Given the description of an element on the screen output the (x, y) to click on. 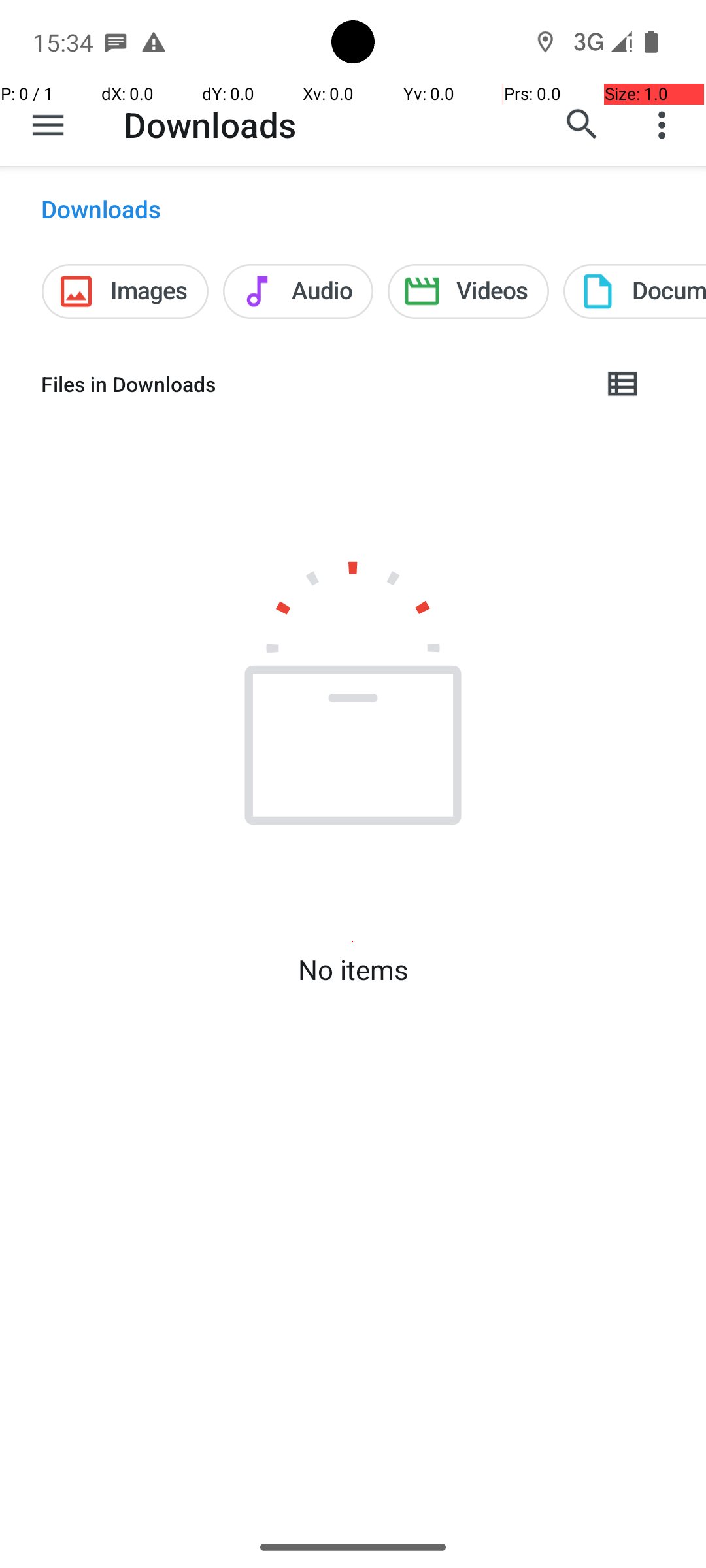
Show roots Element type: android.widget.ImageButton (48, 124)
Downloads Element type: android.widget.TextView (209, 124)
Files in Downloads Element type: android.widget.TextView (311, 383)
List view Element type: android.widget.TextView (622, 384)
Images Element type: android.widget.CompoundButton (124, 291)
Audio Element type: android.widget.CompoundButton (297, 291)
Videos Element type: android.widget.CompoundButton (468, 291)
Documents Element type: android.widget.CompoundButton (634, 291)
No items Element type: android.widget.TextView (352, 968)
